Given the description of an element on the screen output the (x, y) to click on. 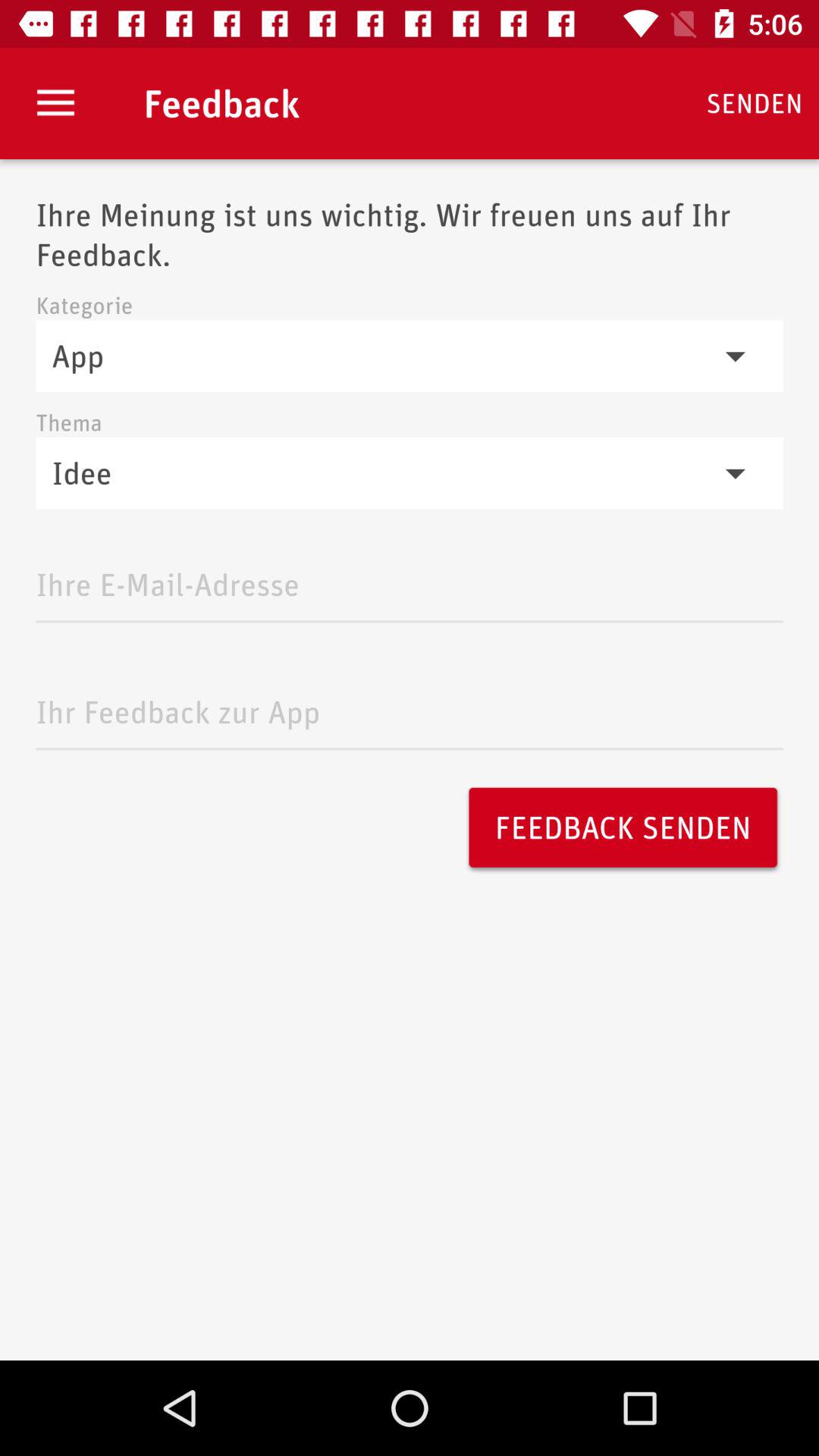
enter feedback (409, 707)
